Given the description of an element on the screen output the (x, y) to click on. 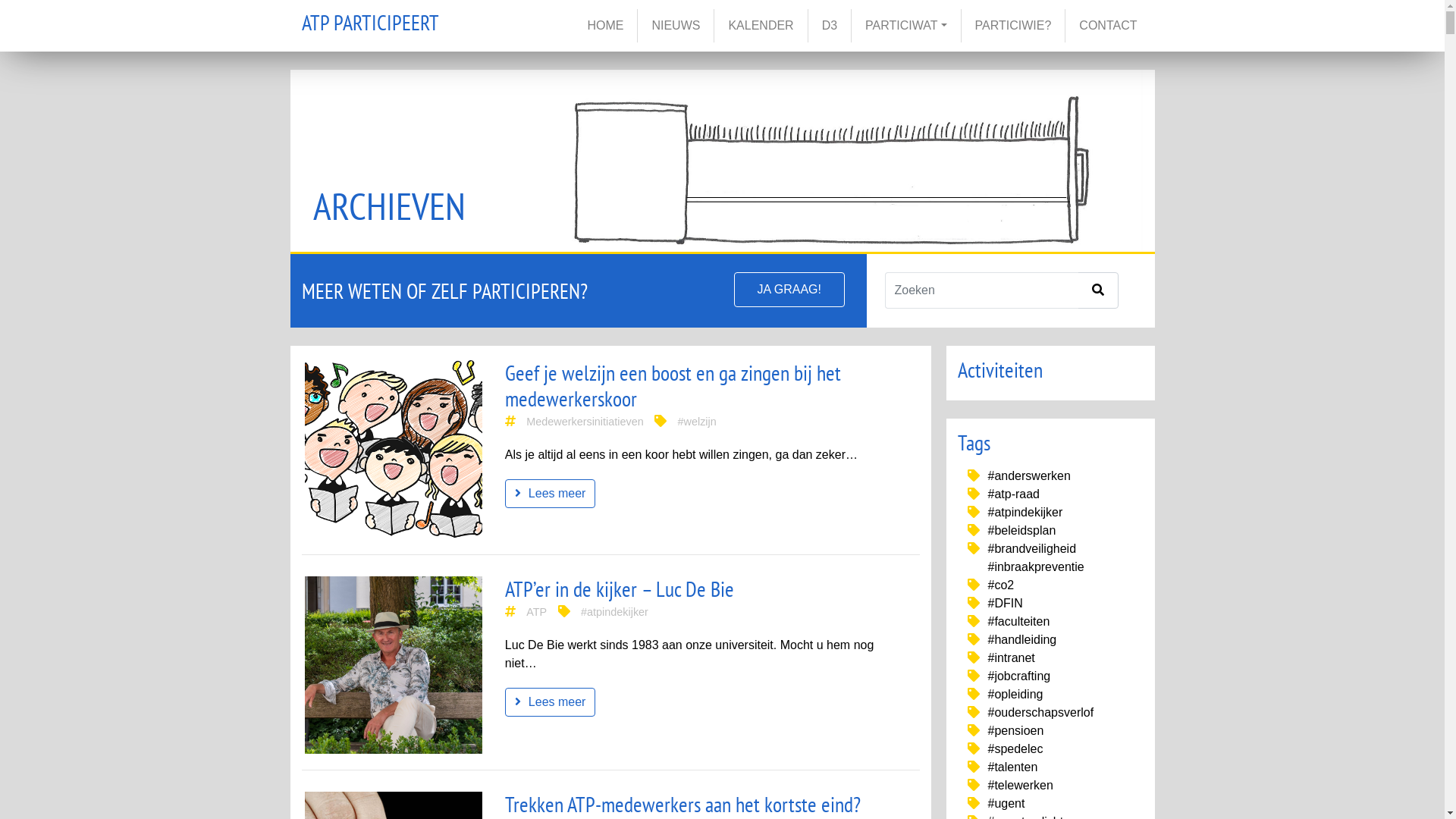
Lees meer Element type: text (550, 700)
D3 Element type: text (829, 25)
Medewerkersinitiatieven Element type: text (584, 421)
#jobcrafting Element type: text (1018, 675)
Lees meer Element type: text (550, 493)
#beleidsplan Element type: text (1021, 530)
#pensioen Element type: text (1015, 730)
#brandveiligheid #inbraakpreventie Element type: text (1035, 557)
#atp-raad Element type: text (1013, 493)
#ugent Element type: text (1005, 803)
HOME Element type: text (604, 25)
image title Element type: hover (393, 664)
PARTICIWIE? Element type: text (1013, 25)
ATP Element type: text (536, 611)
#welzijn Element type: text (696, 421)
CONTACT Element type: text (1107, 25)
PARTICIWAT Element type: text (905, 25)
#faculteiten Element type: text (1018, 621)
#handleiding Element type: text (1021, 639)
#atpindekijker Element type: text (614, 611)
#atpindekijker Element type: text (1024, 511)
NIEUWS Element type: text (675, 25)
#co2 Element type: text (1000, 584)
#spedelec Element type: text (1014, 748)
Lees meer Element type: text (550, 492)
#ouderschapsverlof Element type: text (1040, 712)
Trekken ATP-medewerkers aan het kortste eind? Element type: text (682, 804)
#intranet Element type: text (1010, 657)
#opleiding Element type: text (1014, 693)
JA GRAAG! Element type: text (789, 289)
image title Element type: hover (393, 448)
#telewerken Element type: text (1019, 784)
Lees meer Element type: text (550, 701)
#anderswerken Element type: text (1028, 475)
#talenten Element type: text (1012, 766)
ATP PARTICIPEERT Element type: text (370, 25)
KALENDER Element type: text (760, 25)
#DFIN Element type: text (1004, 602)
